Given the description of an element on the screen output the (x, y) to click on. 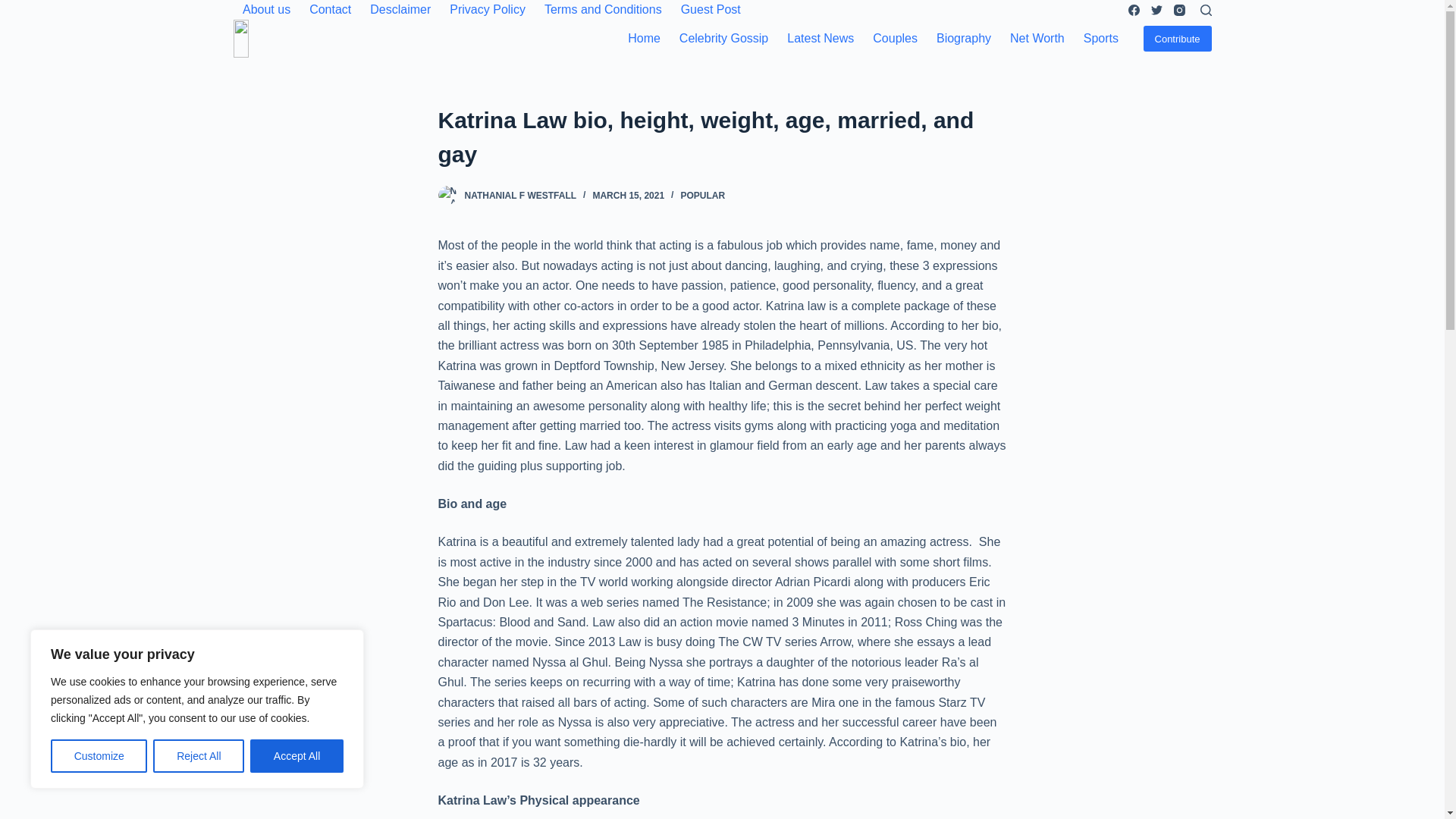
Celebrity Gossip (723, 38)
Biography (963, 38)
Desclaimer (401, 9)
Katrina Law bio, height, weight, age, married, and gay (722, 137)
Guest Post (710, 9)
About us (265, 9)
POPULAR (702, 195)
Privacy Policy (488, 9)
croppedlogo3png Married Celebrity (251, 38)
Net Worth (1037, 38)
Contact (330, 9)
Terms and Conditions (602, 9)
Skip to content (15, 7)
Home (643, 38)
Accept All (296, 756)
